Given the description of an element on the screen output the (x, y) to click on. 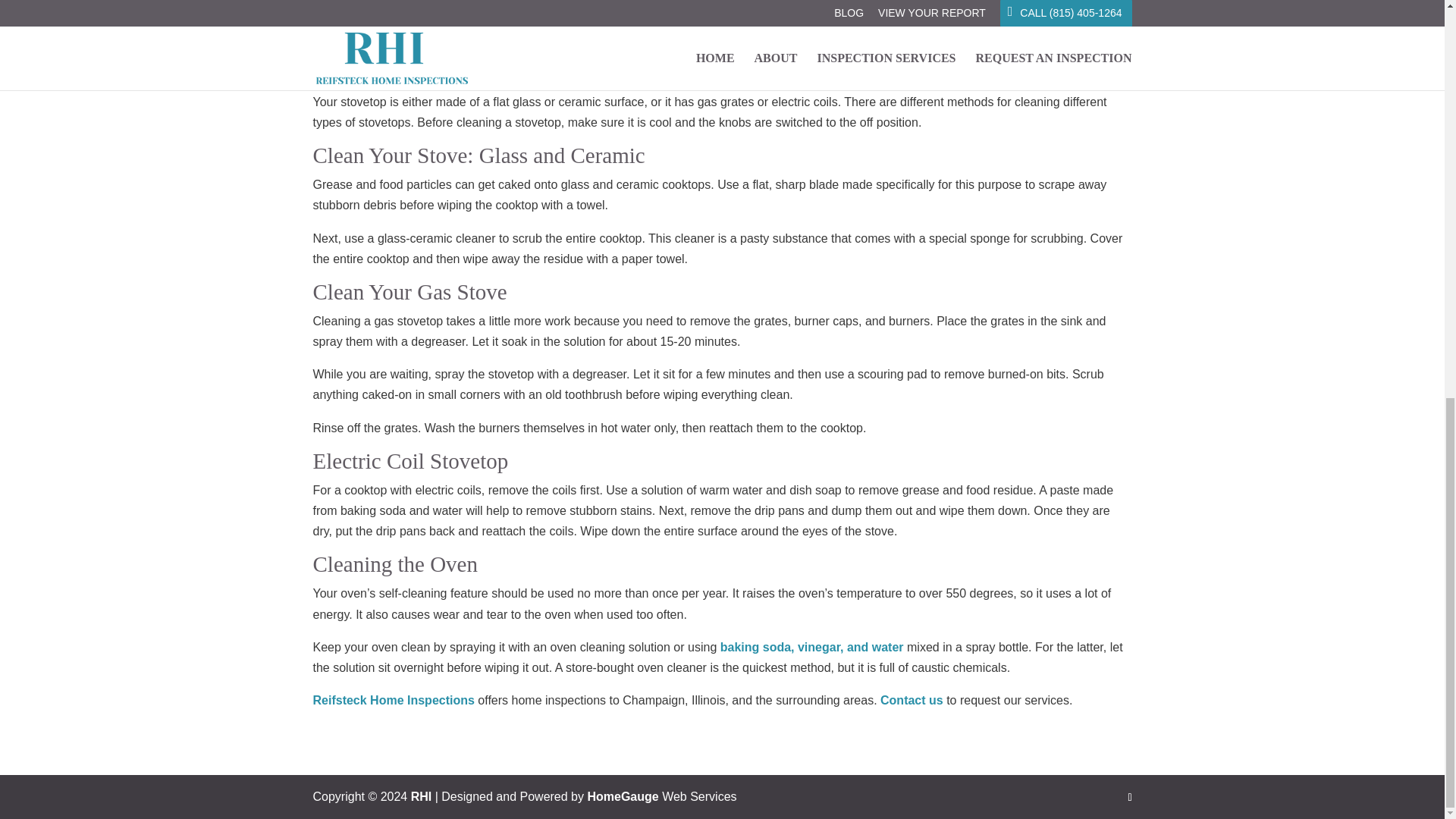
RHI (421, 796)
safe (1047, 18)
baking soda, vinegar, and water (812, 646)
HomeGauge (622, 796)
Reifsteck Home Inspections (393, 699)
Contact us (911, 699)
